Given the description of an element on the screen output the (x, y) to click on. 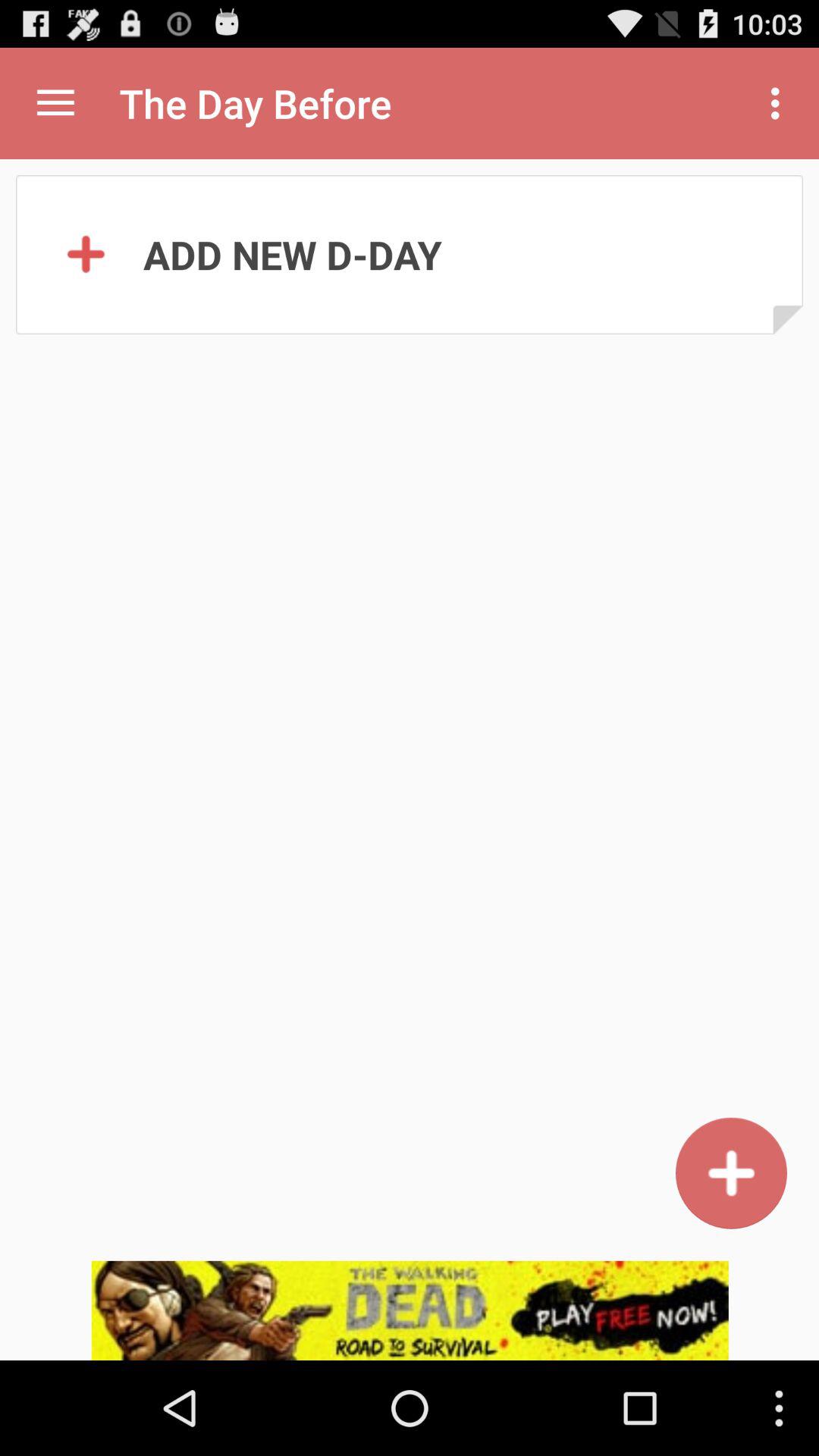
menu option (55, 103)
